Given the description of an element on the screen output the (x, y) to click on. 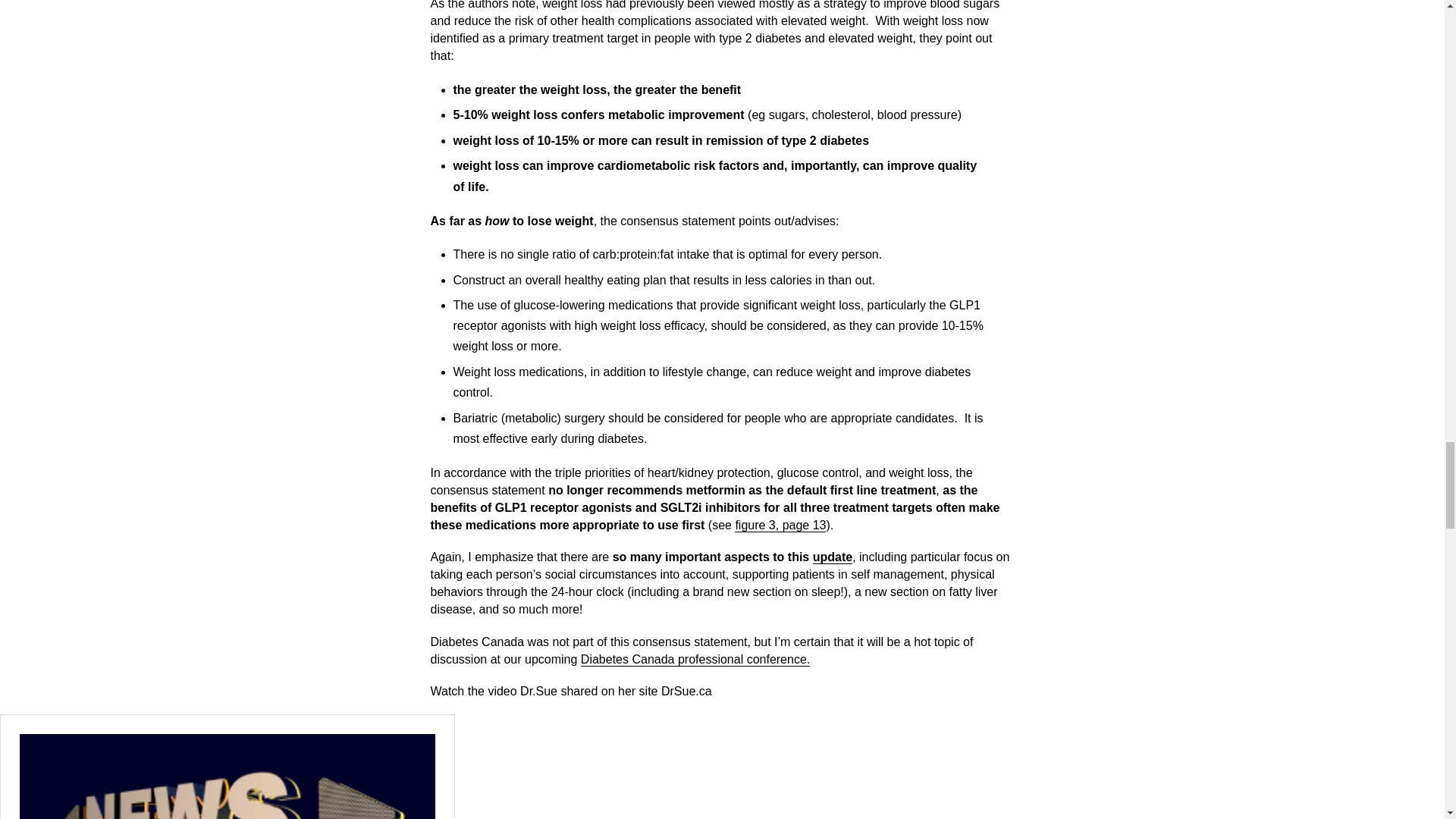
figure 3, page 13 (780, 525)
Diabetes Canada professional conference. (694, 659)
update (831, 557)
